Given the description of an element on the screen output the (x, y) to click on. 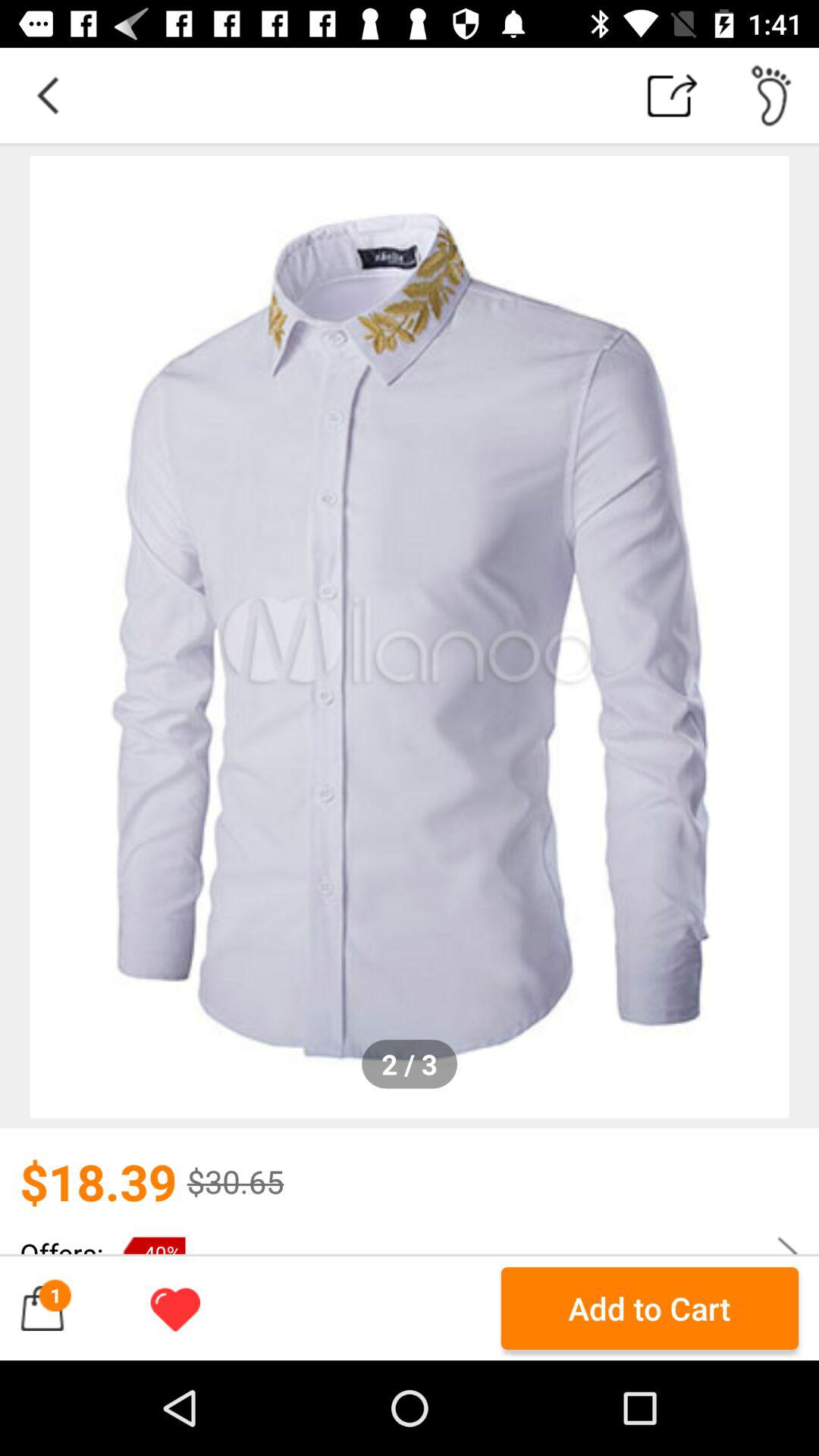
toggle on/off for favoriting this product (175, 1308)
